Given the description of an element on the screen output the (x, y) to click on. 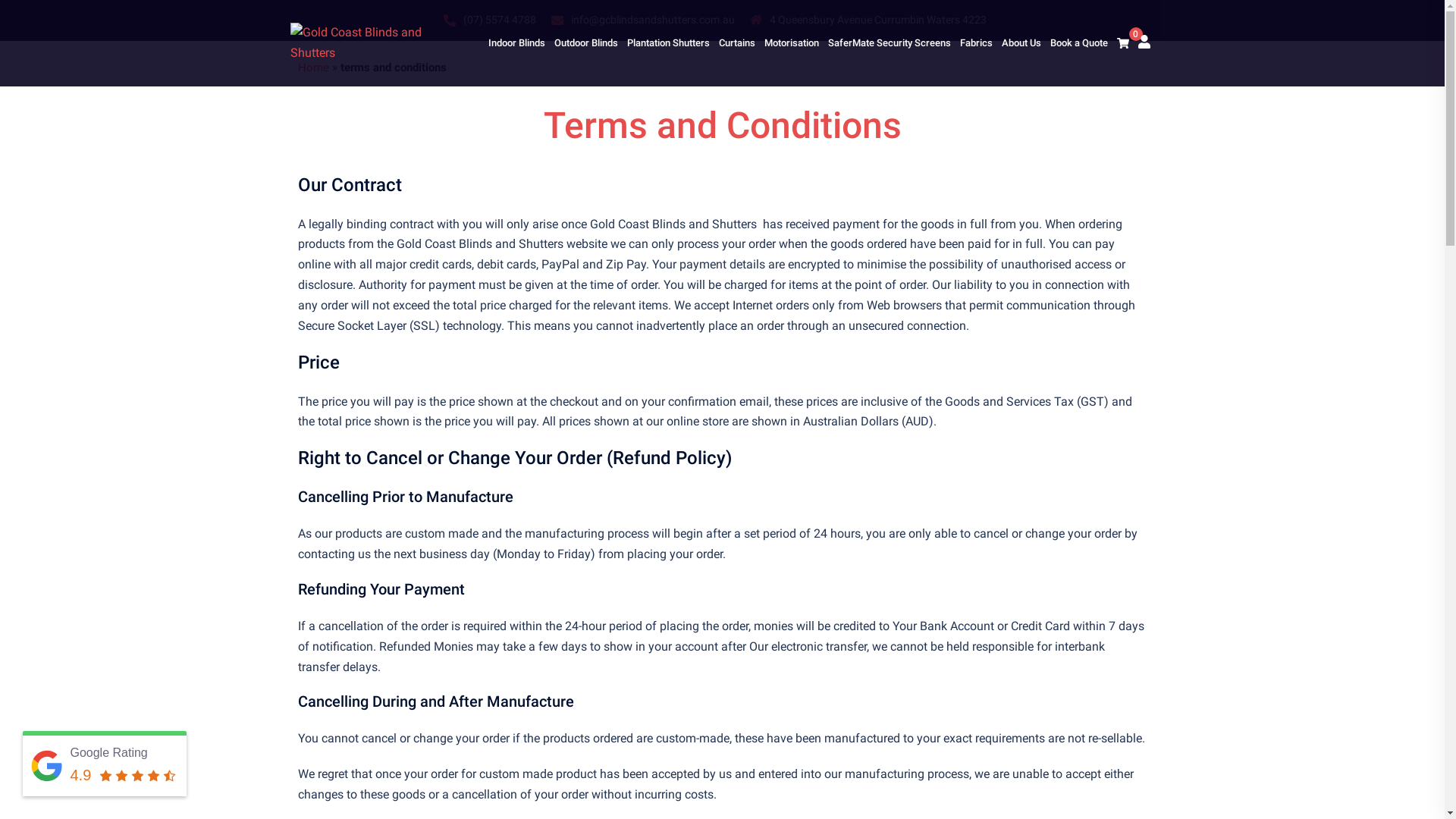
info@gcblindsandshutters.com.au Element type: text (652, 19)
Gold Coast Blinds and Shutters Element type: hover (366, 41)
About Us Element type: text (1020, 42)
Home Element type: text (312, 67)
Indoor Blinds Element type: text (516, 42)
Curtains Element type: text (736, 42)
SaferMate Security Screens Element type: text (889, 42)
Login/Register Element type: hover (1143, 40)
Plantation Shutters Element type: text (667, 42)
(07) 5574 4788 Element type: text (498, 19)
Fabrics Element type: text (976, 42)
0 Element type: text (1122, 42)
Outdoor Blinds Element type: text (585, 42)
Book a Quote Element type: text (1078, 42)
Motorisation Element type: text (791, 42)
